Given the description of an element on the screen output the (x, y) to click on. 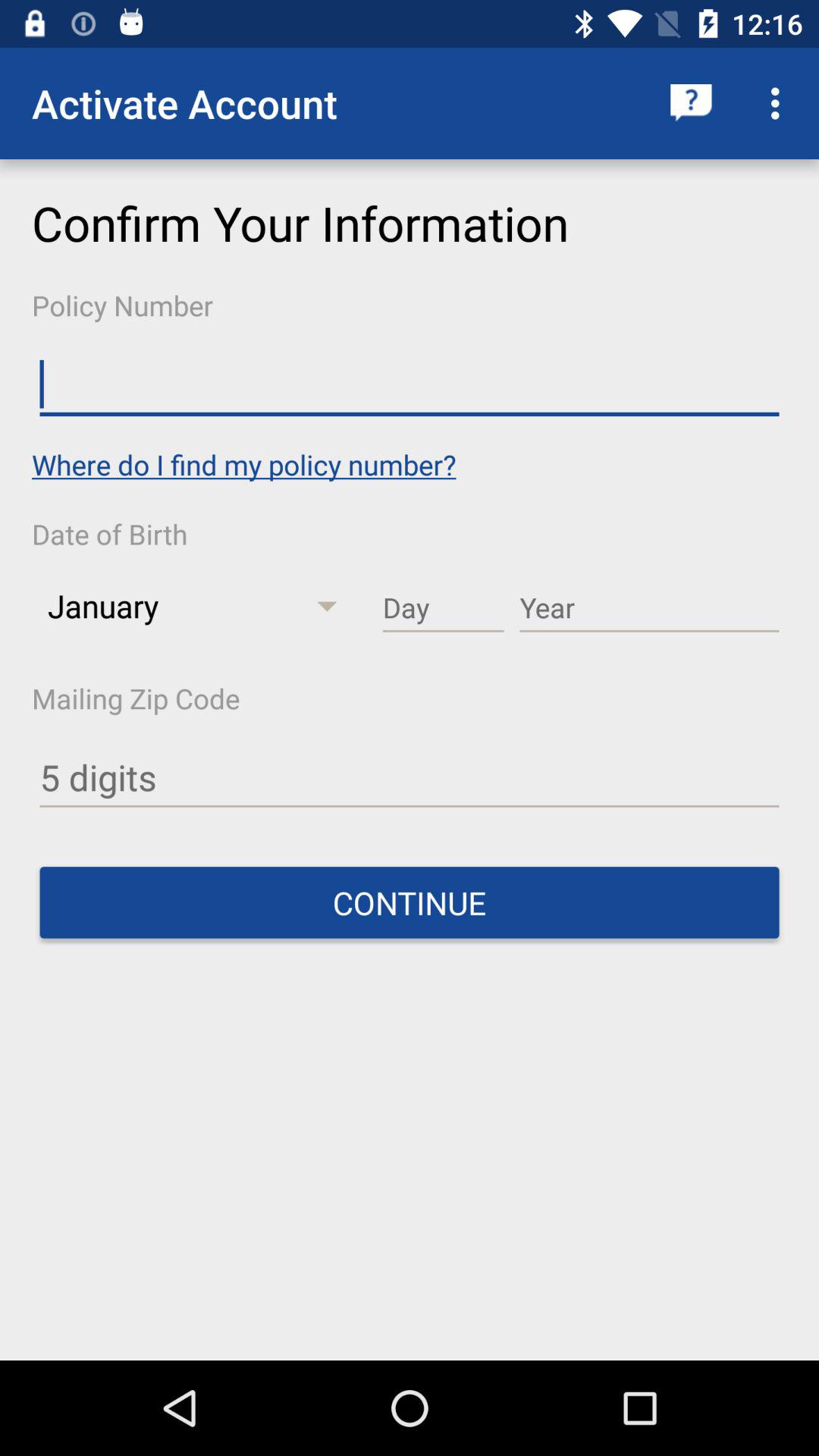
insert day (442, 607)
